Given the description of an element on the screen output the (x, y) to click on. 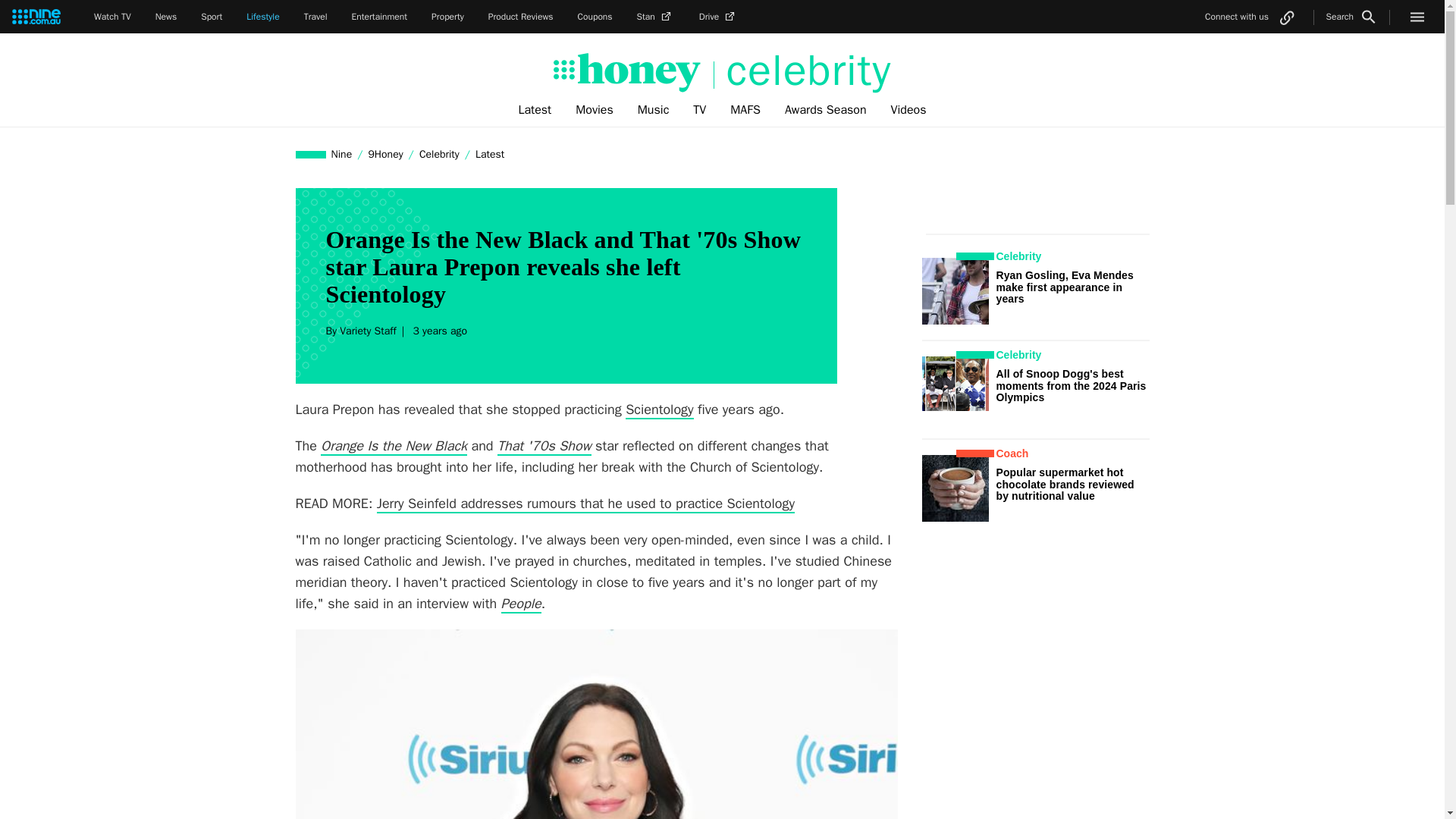
Orange Is the New Black (393, 446)
Latest (489, 154)
Property (447, 16)
Coupons (595, 16)
MAFS (745, 109)
Music (653, 109)
Lifestyle (262, 16)
Scientology (660, 410)
People (520, 604)
Celebrity (438, 154)
